Given the description of an element on the screen output the (x, y) to click on. 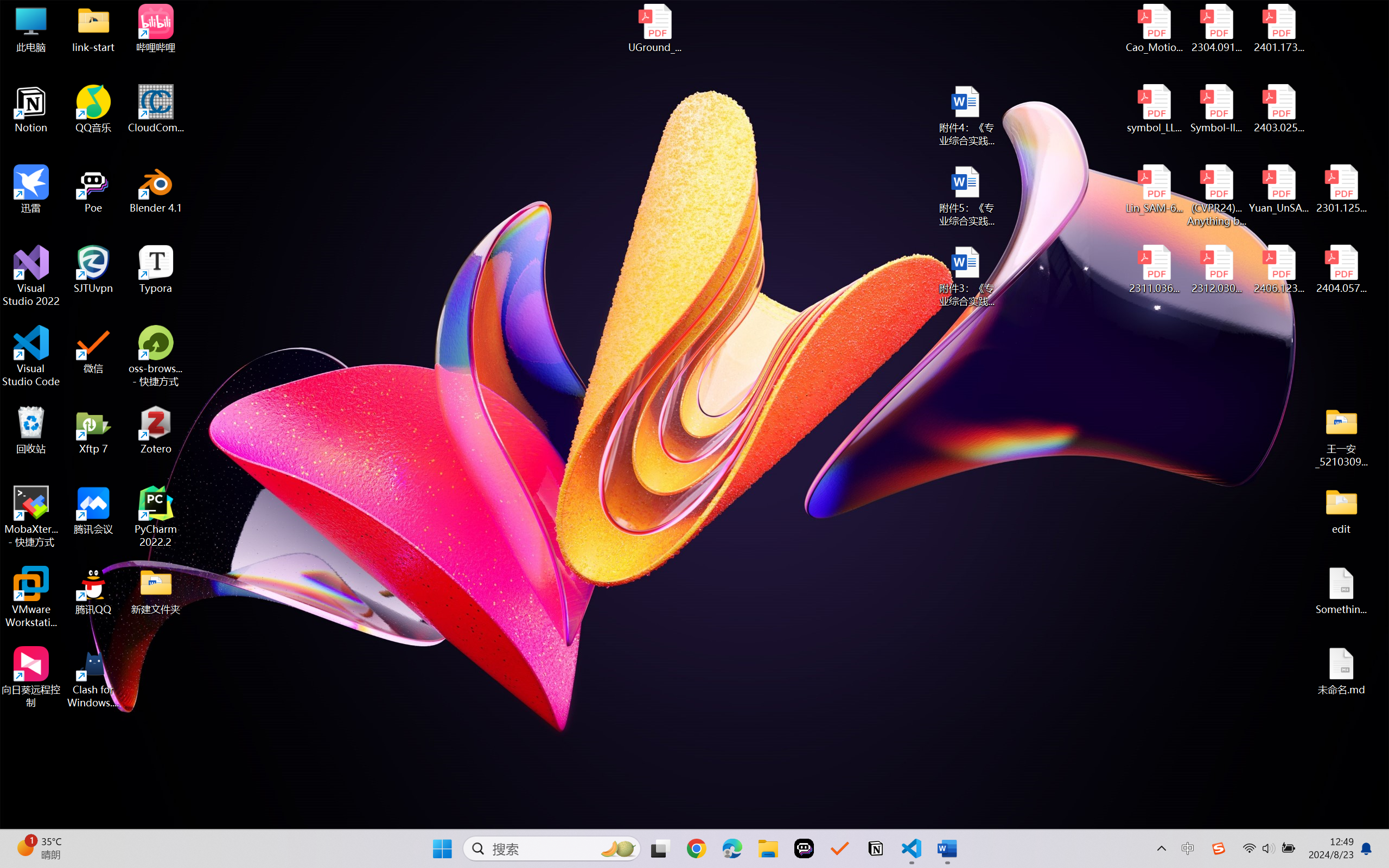
2404.05719v1.pdf (1340, 269)
2406.12373v2.pdf (1278, 269)
Xftp 7 (93, 430)
